Given the description of an element on the screen output the (x, y) to click on. 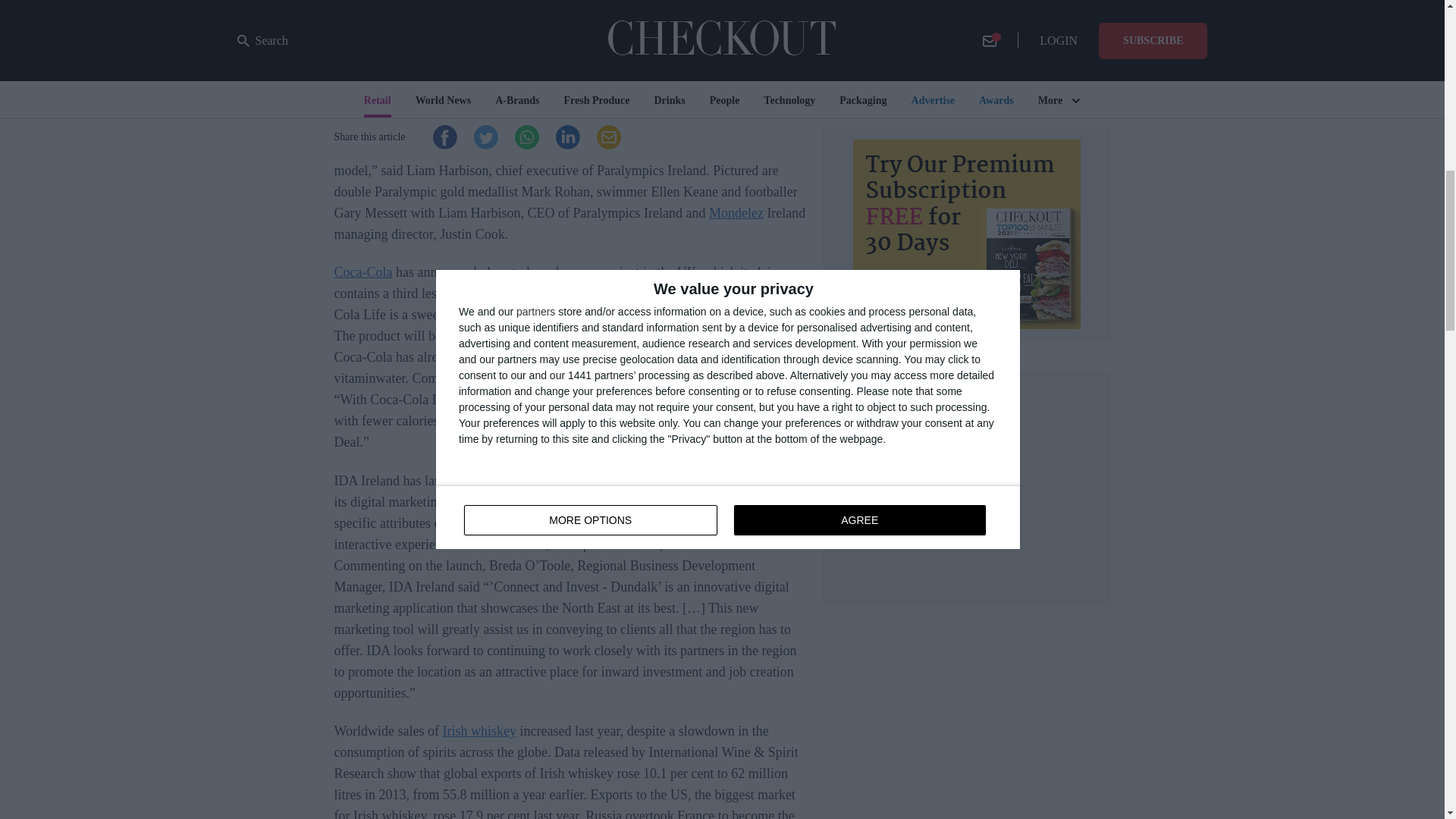
Cadbury (492, 105)
Mondelez (735, 212)
Irish whiskey (479, 730)
Coca-Cola (362, 272)
